Given the description of an element on the screen output the (x, y) to click on. 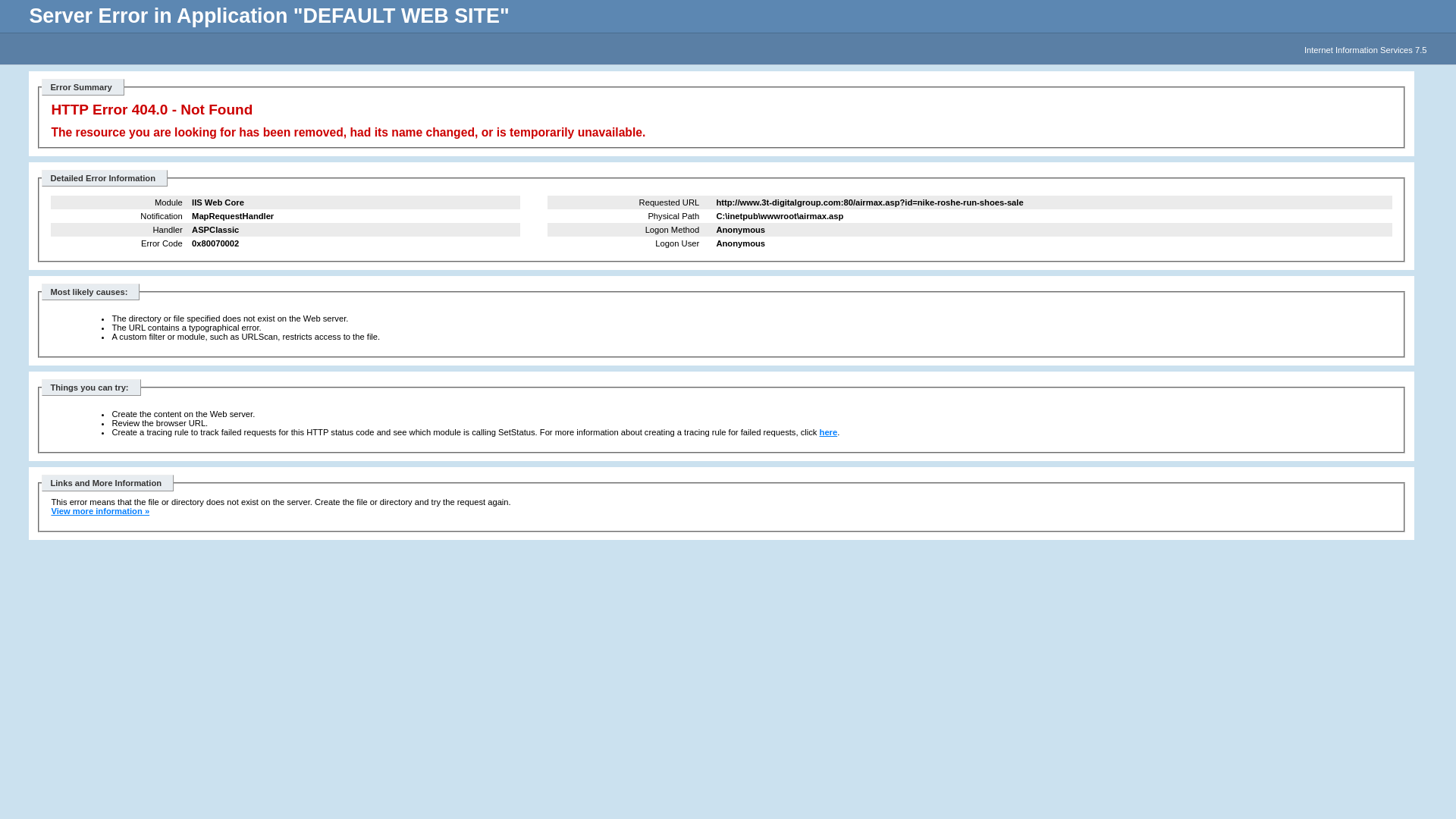
here Element type: text (828, 431)
